Given the description of an element on the screen output the (x, y) to click on. 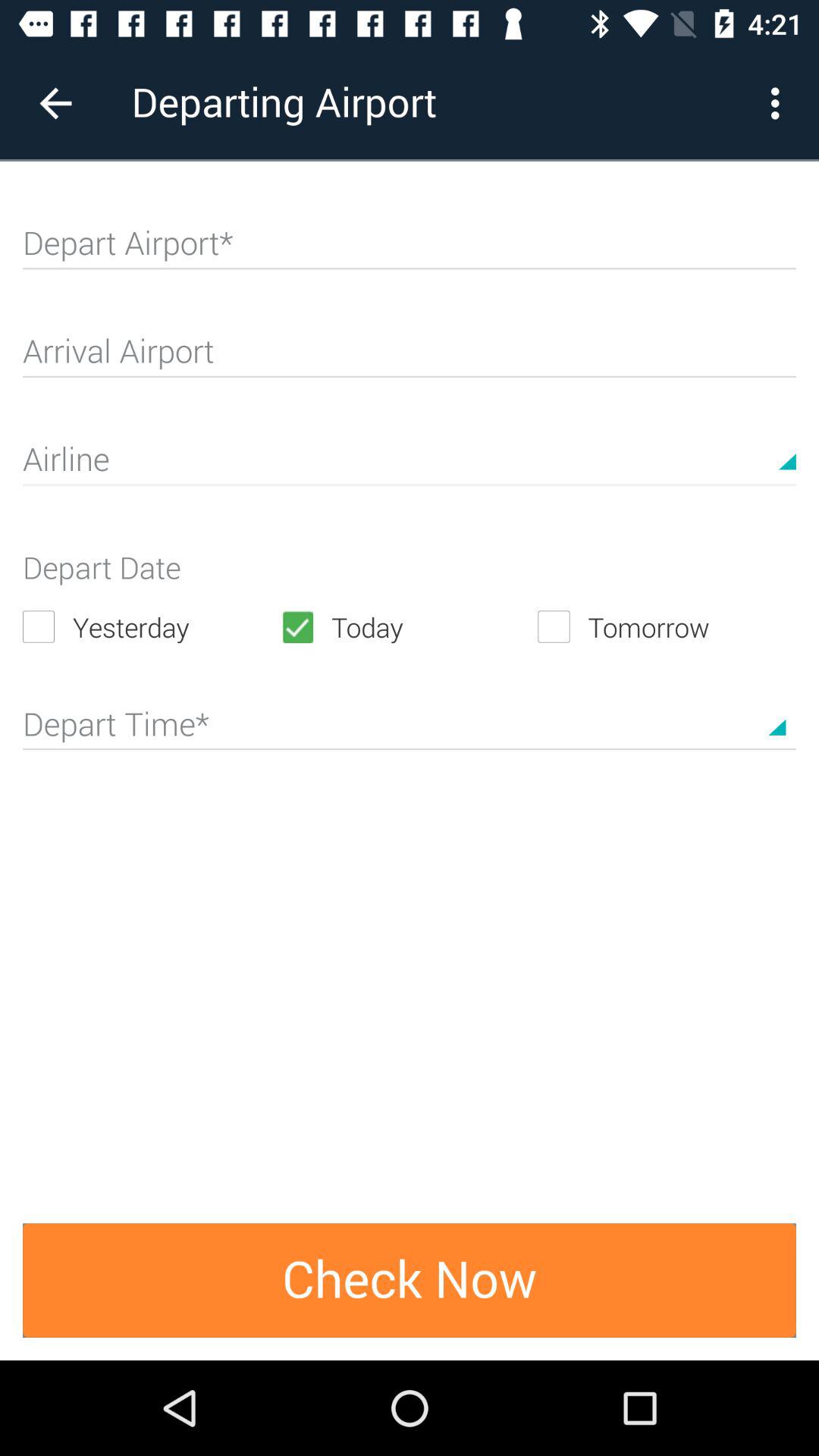
click the icon to the right of the today icon (667, 626)
